Given the description of an element on the screen output the (x, y) to click on. 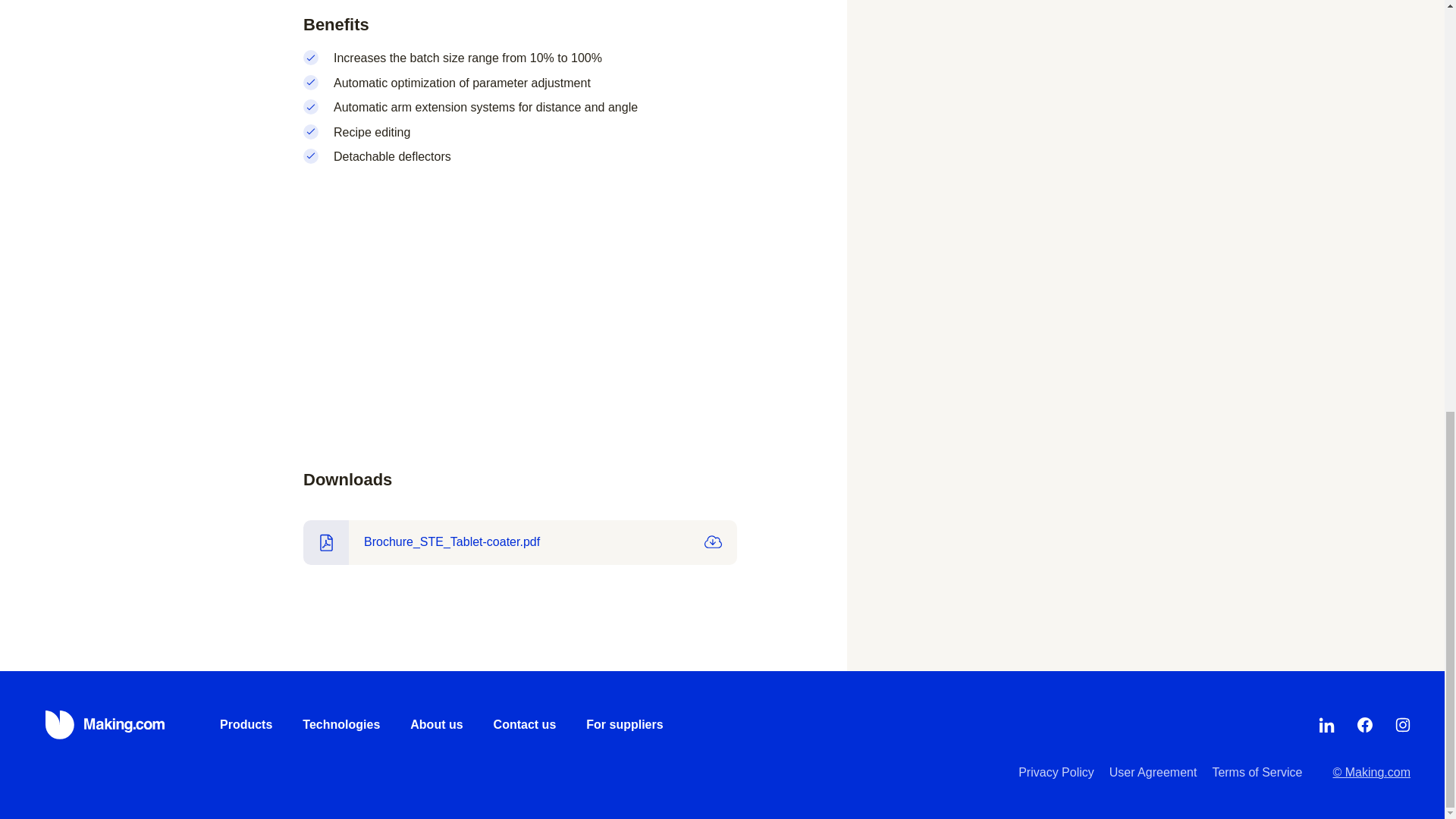
For suppliers (624, 725)
Technologies (341, 725)
About us (436, 725)
Contact us (524, 725)
Home (106, 725)
Products (245, 725)
Terms of Service (1256, 772)
Privacy Policy (1056, 772)
User Agreement (1153, 772)
